Given the description of an element on the screen output the (x, y) to click on. 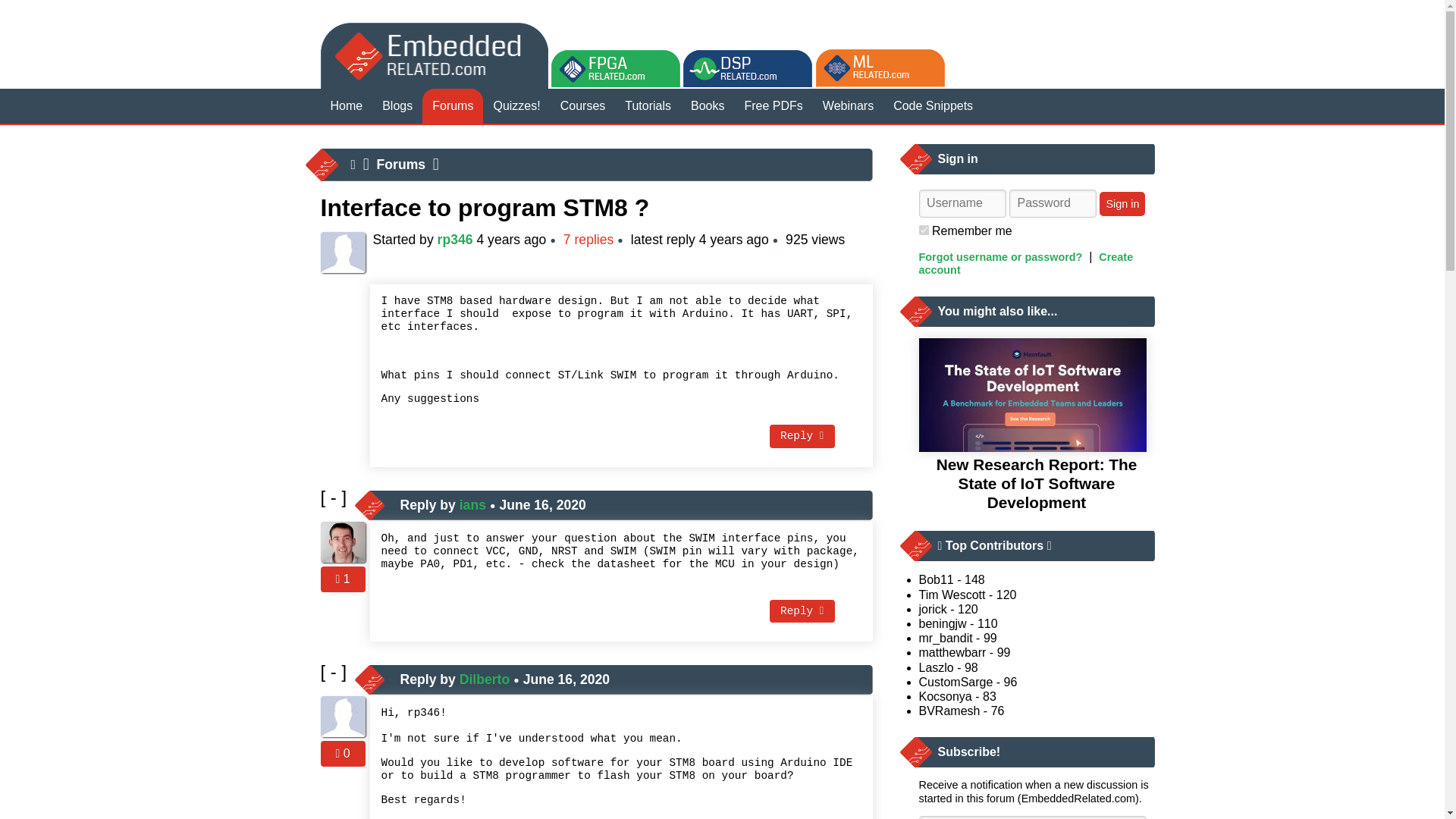
Courses (582, 105)
Blogs (397, 105)
Code Snippets (932, 105)
rp346 (455, 239)
Free PDFs (773, 105)
checked (923, 230)
Tutorials (647, 105)
Embedded Systems Courses (582, 105)
Embedded Systems Blogs (397, 105)
Forums (452, 105)
Embedded Systems Free PDFs (773, 105)
Home (346, 105)
Quizzes! (516, 105)
Embedded Systems Forums and Discussions (452, 105)
Forums (401, 164)
